Given the description of an element on the screen output the (x, y) to click on. 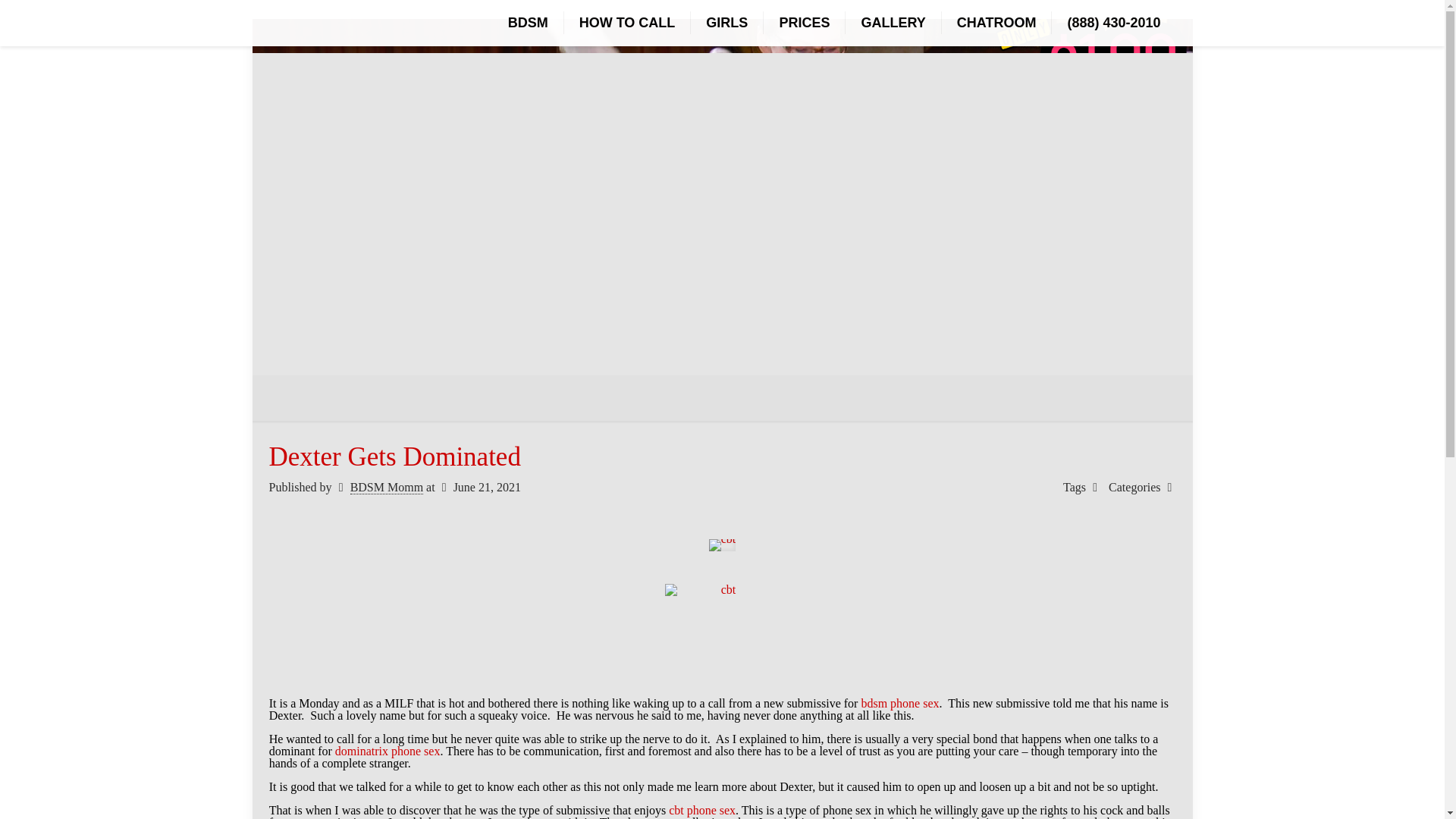
BDSM Momm (386, 487)
GIRLS (726, 22)
bdsm phone sex (899, 703)
dominatrix phone sex (387, 750)
CHATROOM (997, 22)
BDSM (528, 22)
HOW TO CALL (627, 22)
GALLERY (892, 22)
cbt phone sex (701, 809)
PRICES (803, 22)
